Given the description of an element on the screen output the (x, y) to click on. 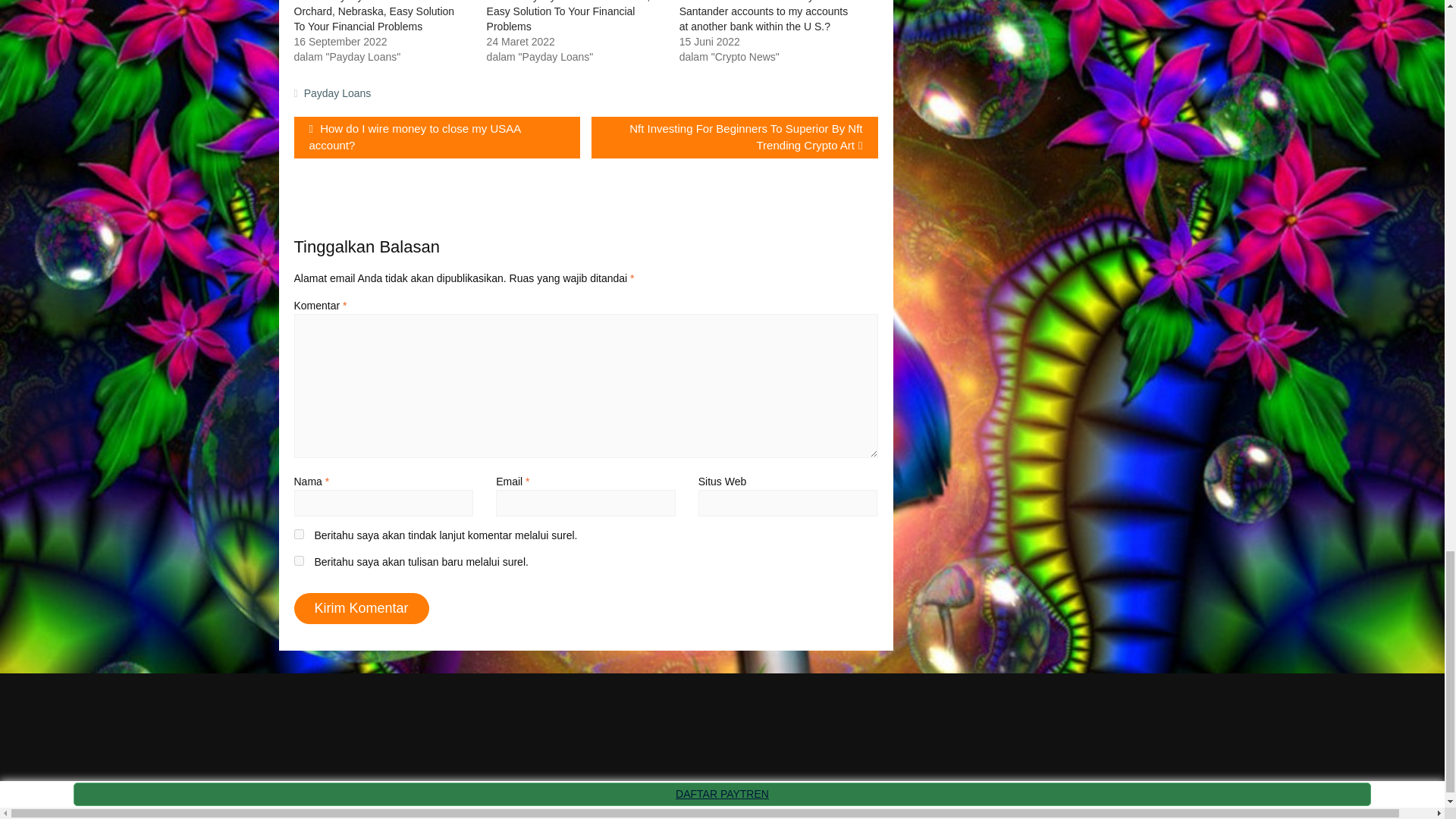
subscribe (299, 560)
subscribe (299, 533)
Kirim Komentar (361, 608)
